Given the description of an element on the screen output the (x, y) to click on. 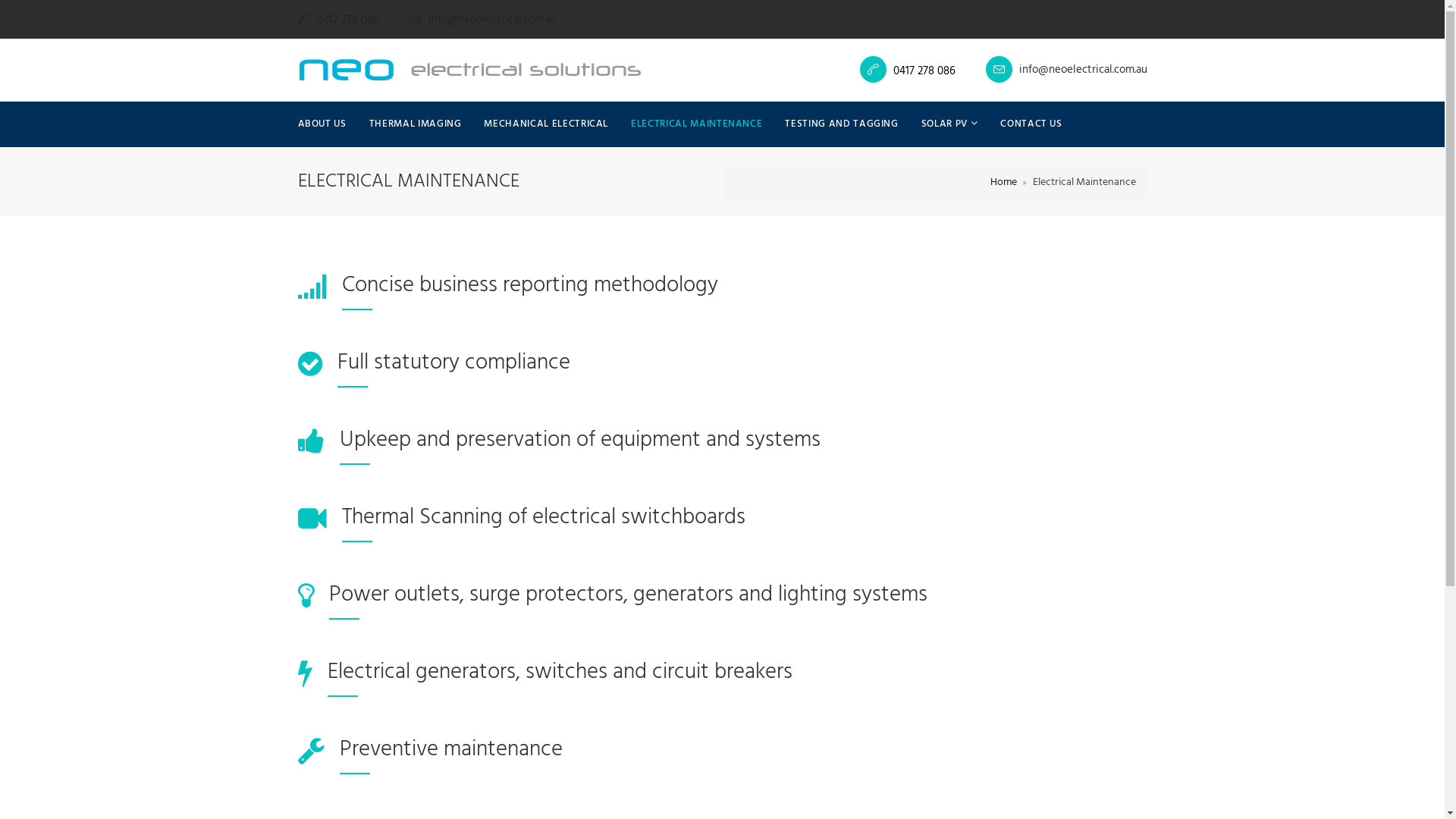
ELECTRICAL MAINTENANCE Element type: text (696, 124)
ABOUT US Element type: text (327, 124)
CONTACT US Element type: text (1030, 124)
Home Element type: text (1003, 181)
TESTING AND TAGGING Element type: text (841, 124)
info@neoelectrical.com.au Element type: text (482, 19)
info@neoelectrical.com.au Element type: text (1066, 69)
SOLAR PV Element type: text (949, 124)
THERMAL IMAGING Element type: text (415, 124)
MECHANICAL ELECTRICAL Element type: text (545, 124)
